Given the description of an element on the screen output the (x, y) to click on. 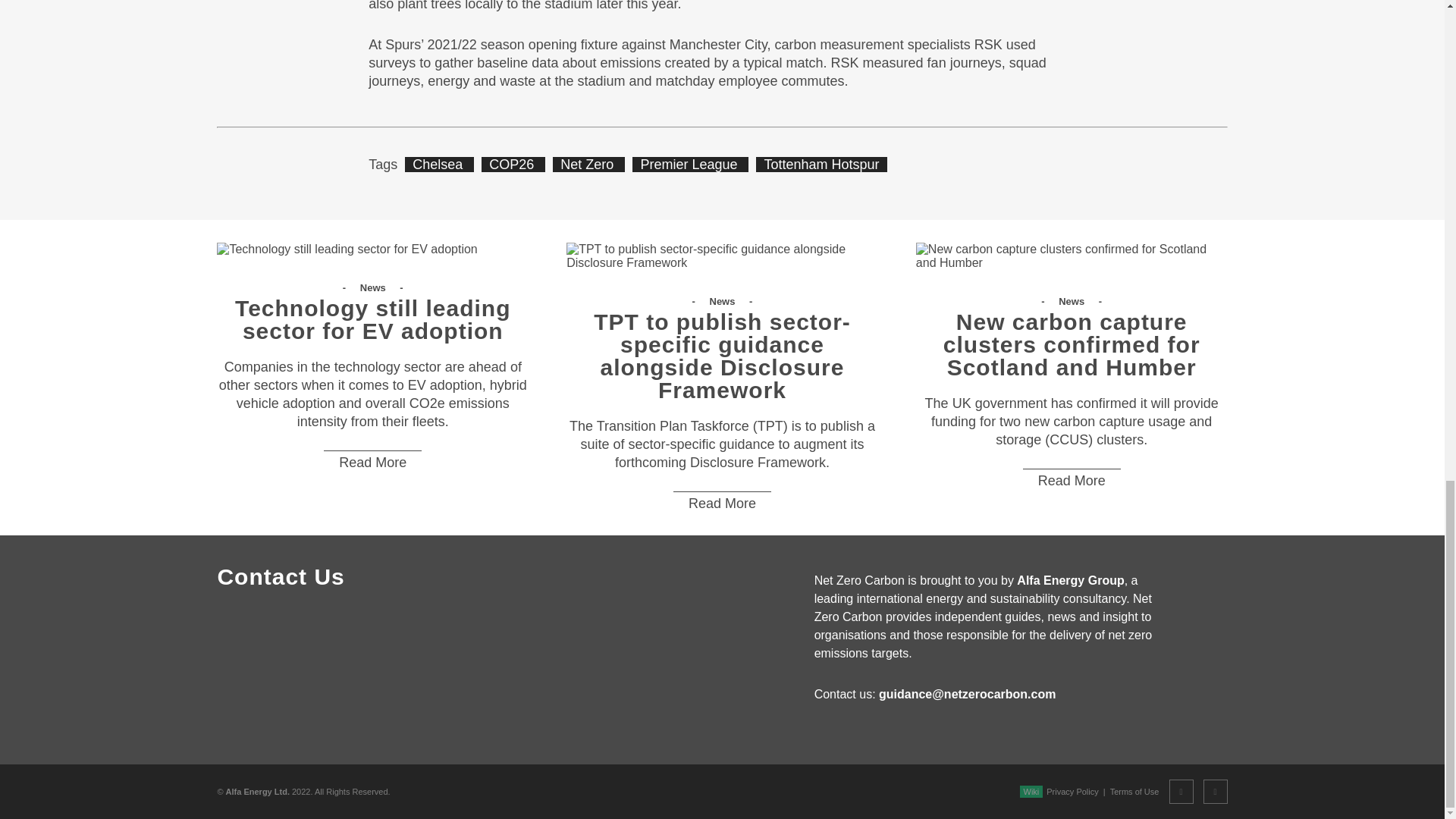
Technology still leading sector for EV adoption (346, 249)
Alfa Energy Ltd. (257, 791)
Read More (1072, 480)
Privacy Policy (1071, 791)
Read More (372, 462)
Wiki (1030, 791)
LinkedIn (1215, 791)
News (374, 287)
